Given the description of an element on the screen output the (x, y) to click on. 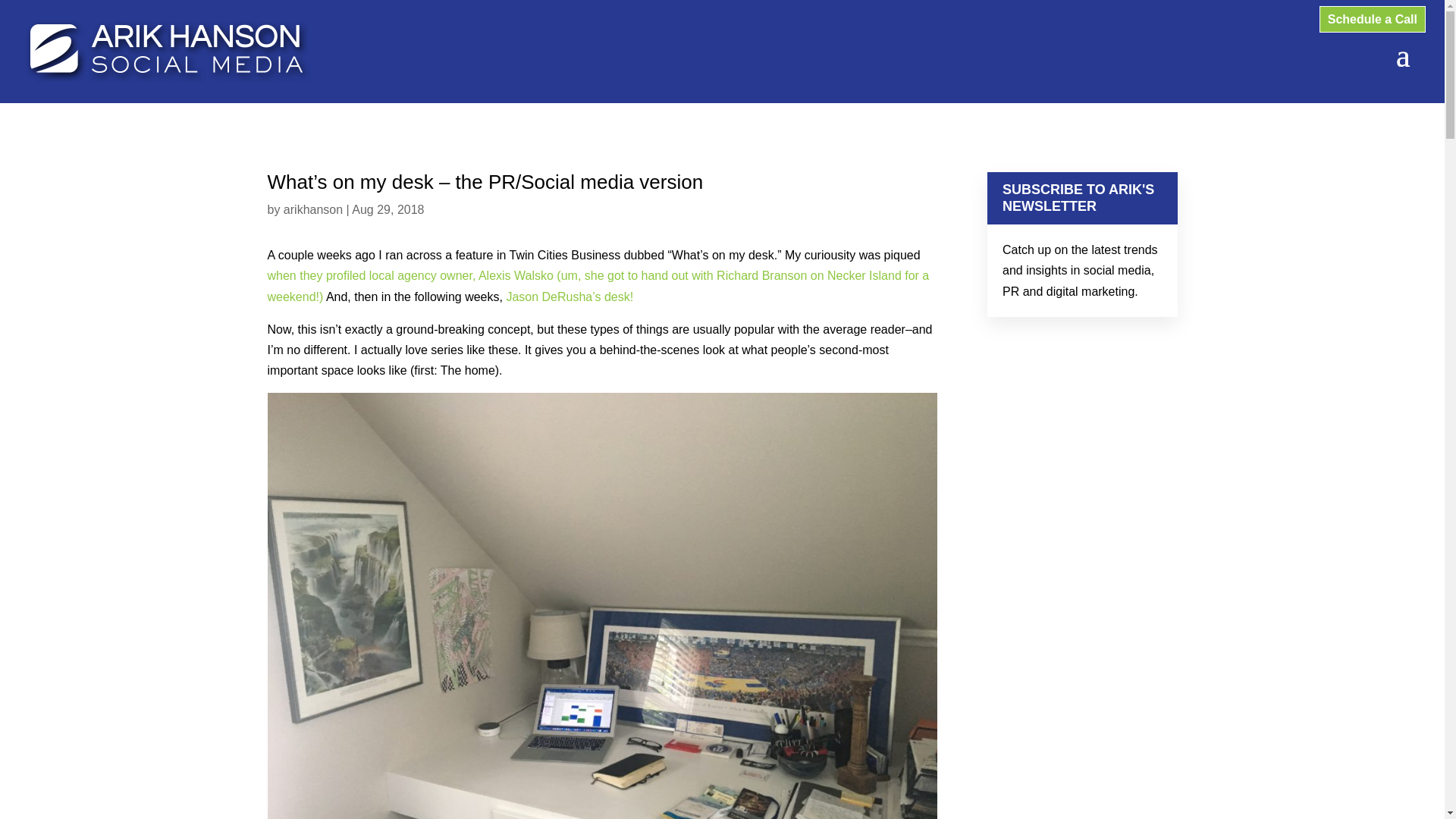
arikhanson (312, 209)
Posts by arikhanson (312, 209)
Schedule a Call (1371, 19)
